Given the description of an element on the screen output the (x, y) to click on. 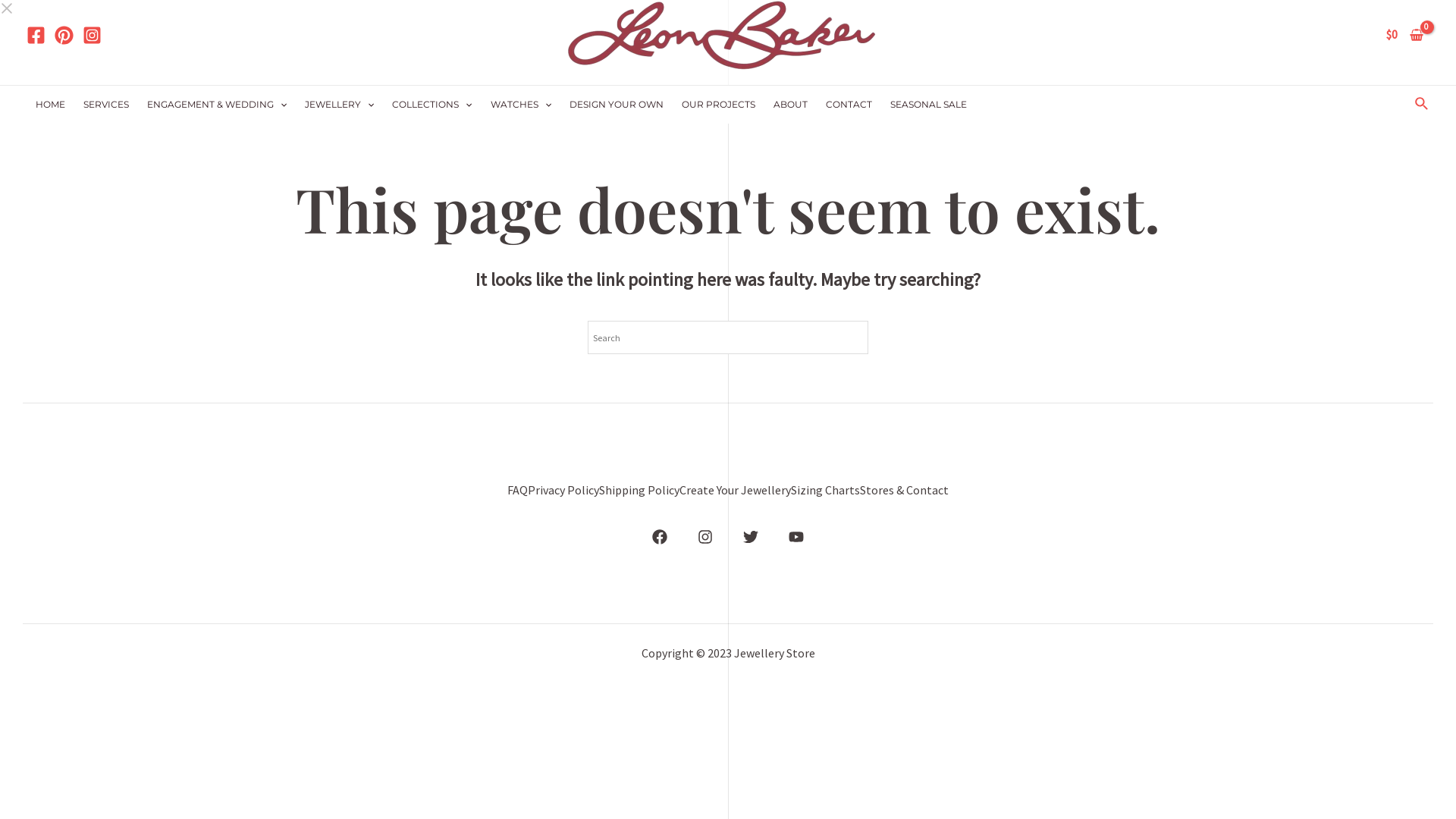
ENGAGEMENT & WEDDING Element type: text (216, 104)
JEWELLERY Element type: text (338, 104)
Stores & Contact Element type: text (903, 490)
FAQ Element type: text (517, 490)
Sizing Charts Element type: text (824, 490)
HOME Element type: text (50, 104)
Privacy Policy Element type: text (563, 490)
$0 Element type: text (1404, 34)
WATCHES Element type: text (520, 104)
Shipping Policy Element type: text (639, 490)
ABOUT Element type: text (790, 104)
Create Your Jewellery Element type: text (734, 490)
COLLECTIONS Element type: text (431, 104)
OUR PROJECTS Element type: text (718, 104)
CONTACT Element type: text (848, 104)
DESIGN YOUR OWN Element type: text (616, 104)
SERVICES Element type: text (106, 104)
SEASONAL SALE Element type: text (928, 104)
